Given the description of an element on the screen output the (x, y) to click on. 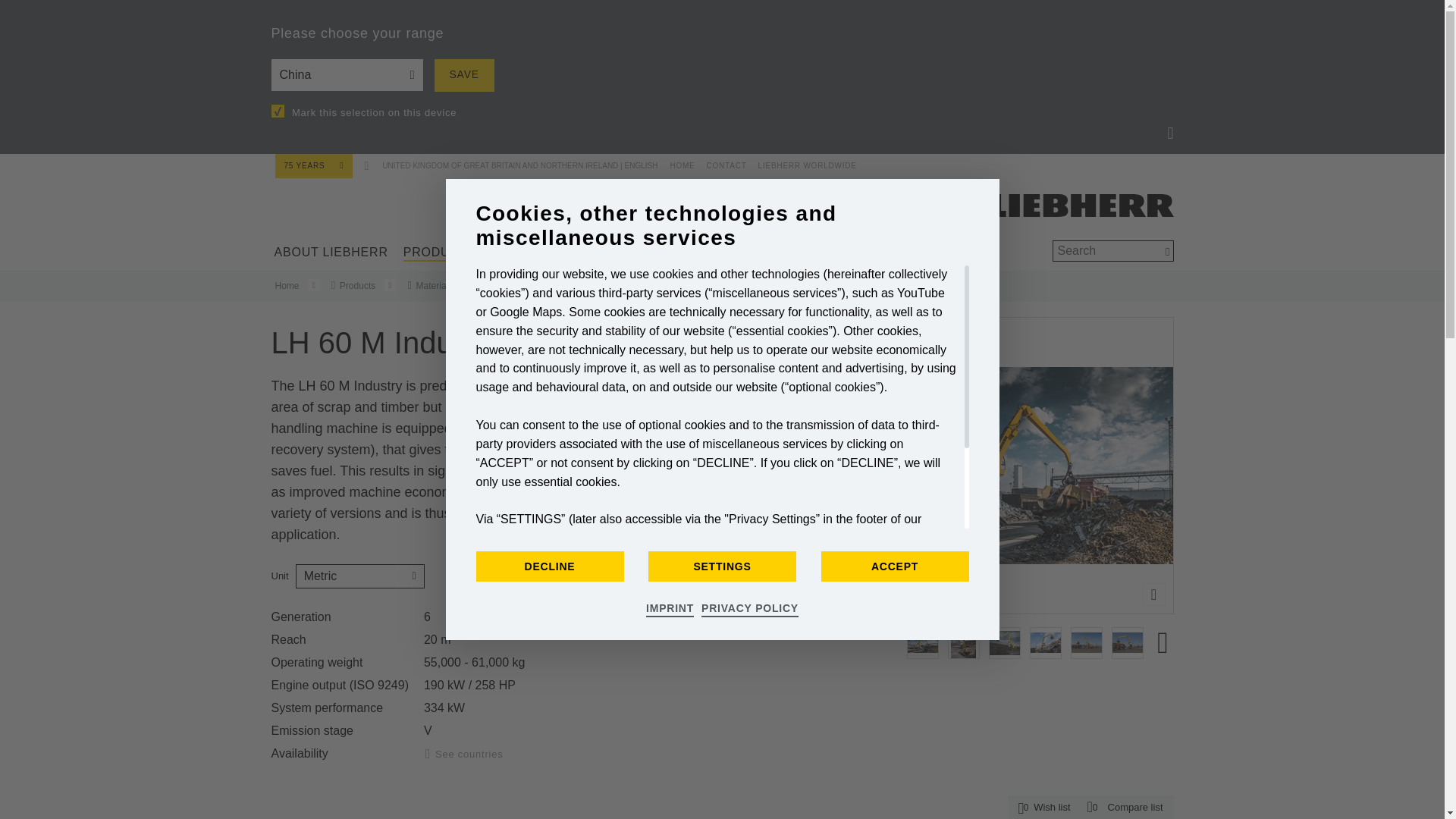
LIEBHERR WORLDWIDE (801, 162)
China (346, 74)
CONTACT (720, 162)
SAVE (463, 74)
75 YEARS (313, 165)
HOME (679, 162)
on (276, 110)
About Liebherr (331, 251)
ABOUT LIEBHERR (331, 251)
